Given the description of an element on the screen output the (x, y) to click on. 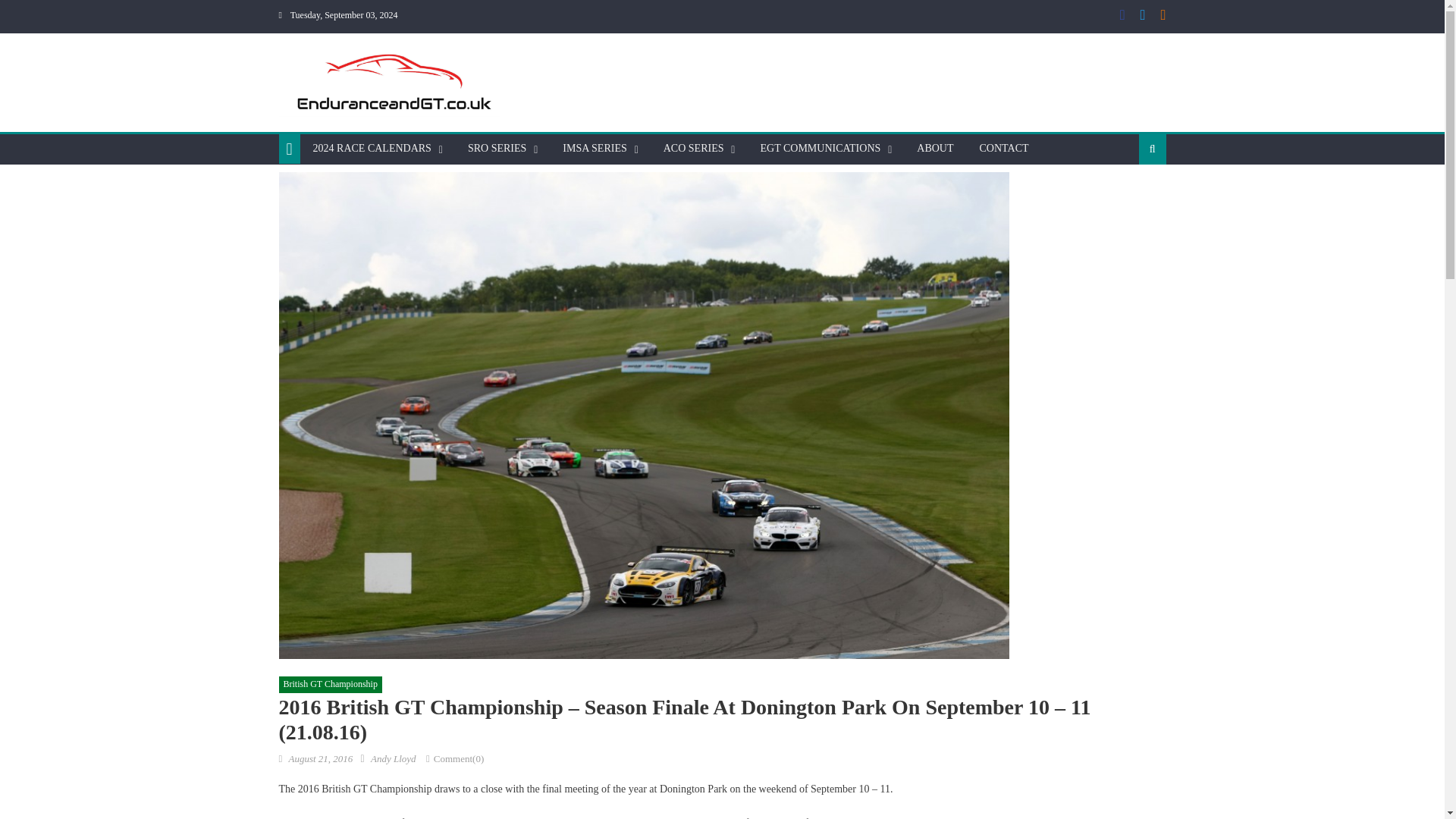
ACO SERIES (693, 148)
IMSA SERIES (594, 148)
EGT COMMUNICATIONS (819, 148)
2024 RACE CALENDARS (371, 148)
SRO SERIES (497, 148)
